Given the description of an element on the screen output the (x, y) to click on. 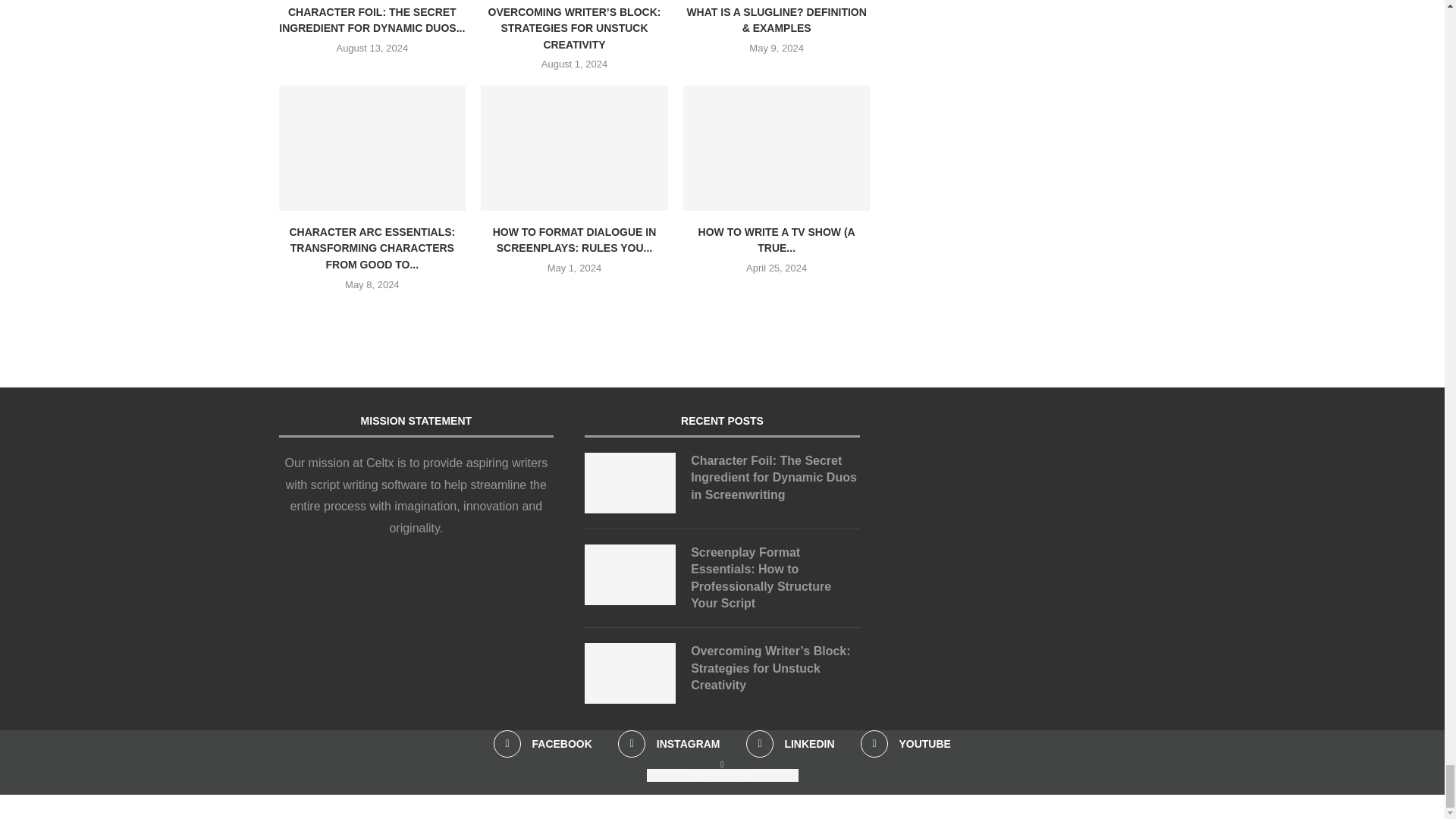
CHARACTER FOIL: THE SECRET INGREDIENT FOR DYNAMIC DUOS... (371, 20)
